Given the description of an element on the screen output the (x, y) to click on. 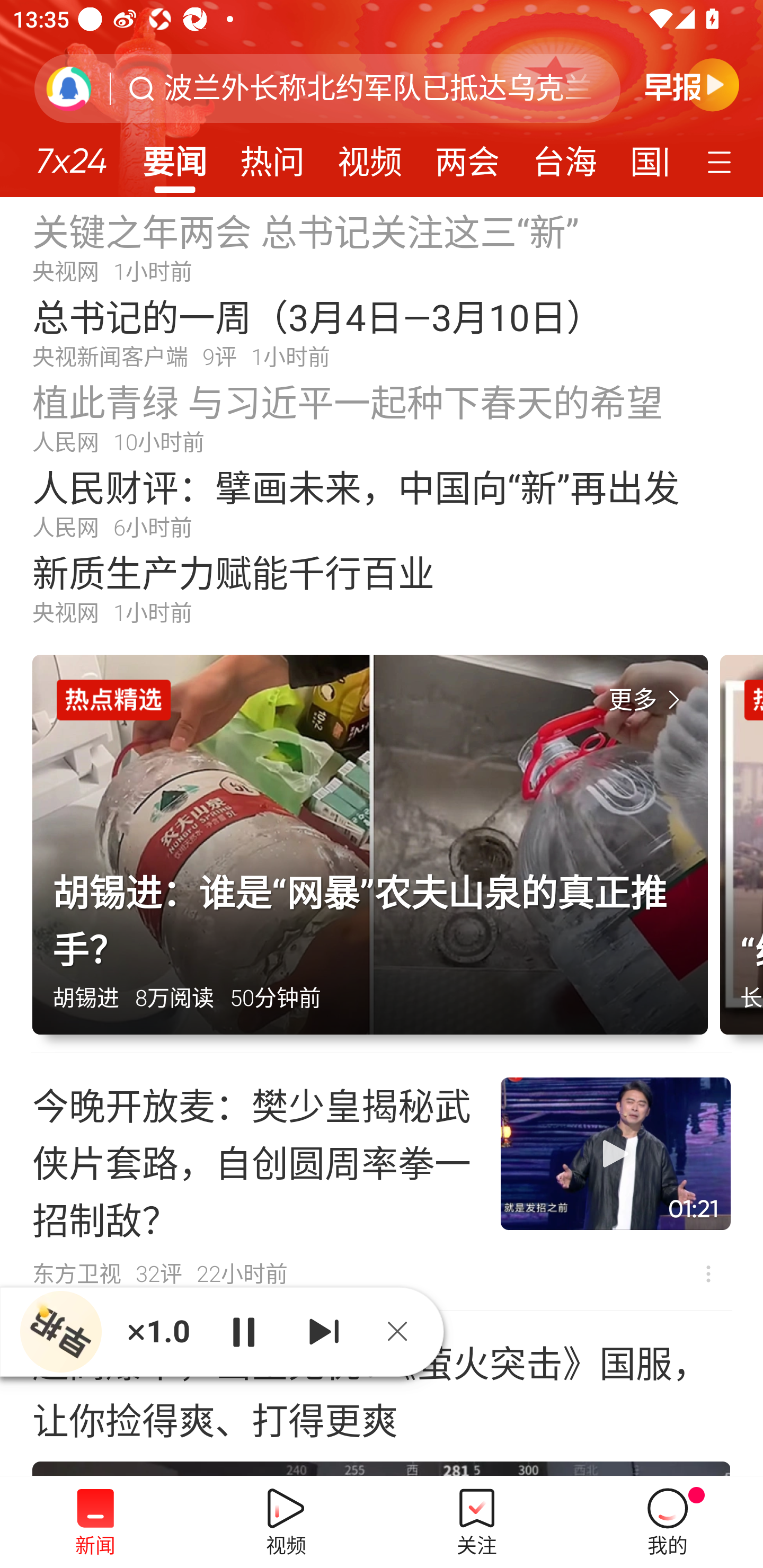
早晚报 (691, 84)
刷新 (68, 88)
波兰外长称北约军队已抵达乌克兰 (378, 88)
7x24 (70, 154)
要闻 (174, 155)
热问 (272, 155)
视频 (369, 155)
两会 (466, 155)
台海 (564, 155)
 定制频道 (721, 160)
关键之年两会 总书记关注这三“新” 央视网 1小时前 (381, 245)
总书记的一周（3月4日—3月10日） 央视新闻客户端 9评 1小时前 (381, 331)
植此青绿 与习近平一起种下春天的希望 人民网 10小时前 (381, 416)
人民财评：擘画未来，中国向“新”再出发 人民网 6小时前 (381, 502)
新质生产力赋能千行百业 央视网 1小时前 (381, 587)
更多  胡锡进：谁是“网暴”农夫山泉的真正推手？ 胡锡进   8万阅读   50分钟前 (376, 853)
更多  (648, 699)
 不感兴趣 (707, 1273)
播放器 (60, 1331)
 播放 (242, 1330)
 下一个 (323, 1330)
 关闭 (404, 1330)
 1.0 (157, 1330)
